Given the description of an element on the screen output the (x, y) to click on. 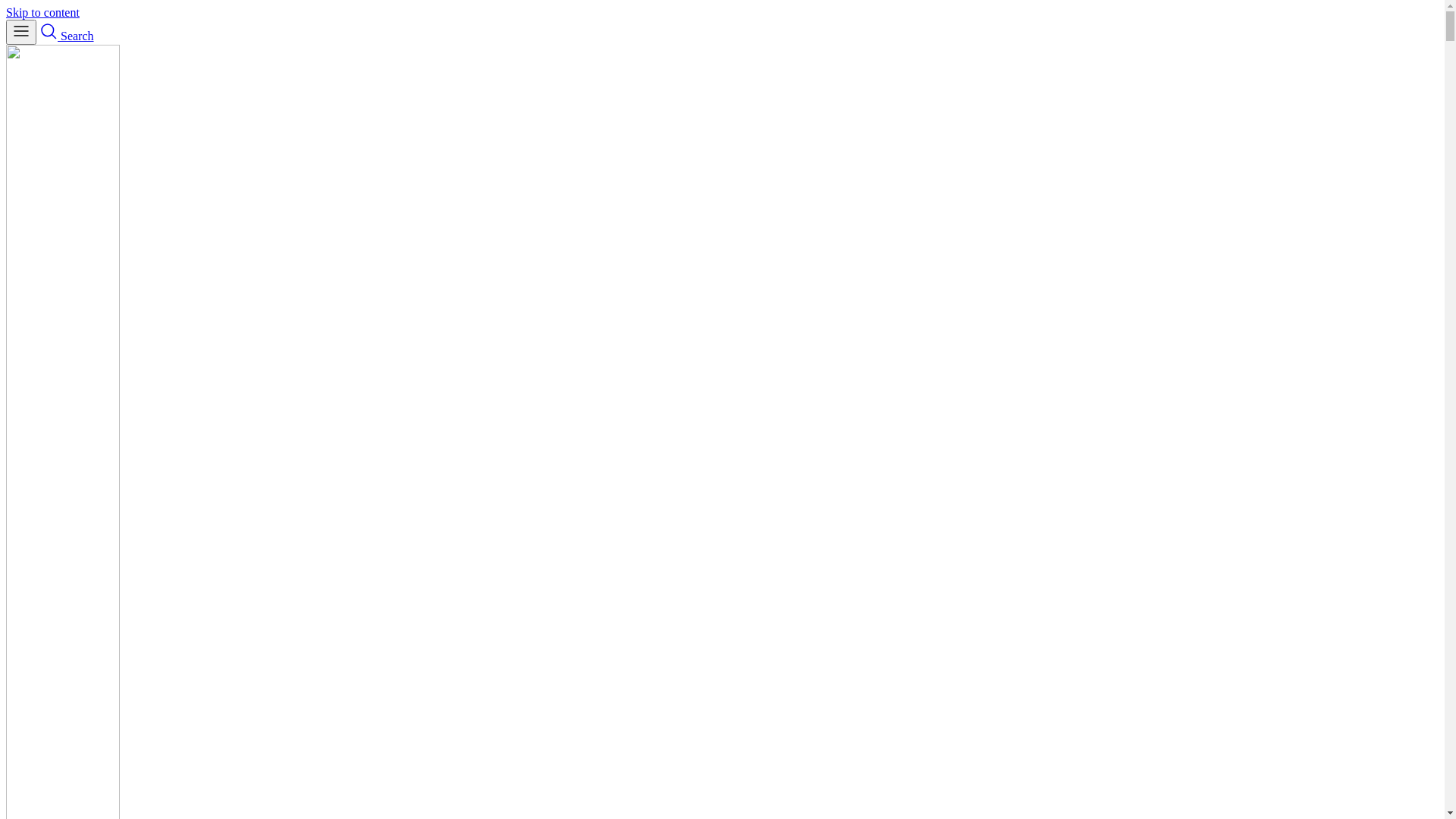
Search Element type: text (66, 35)
Skip to content Element type: text (42, 12)
